Given the description of an element on the screen output the (x, y) to click on. 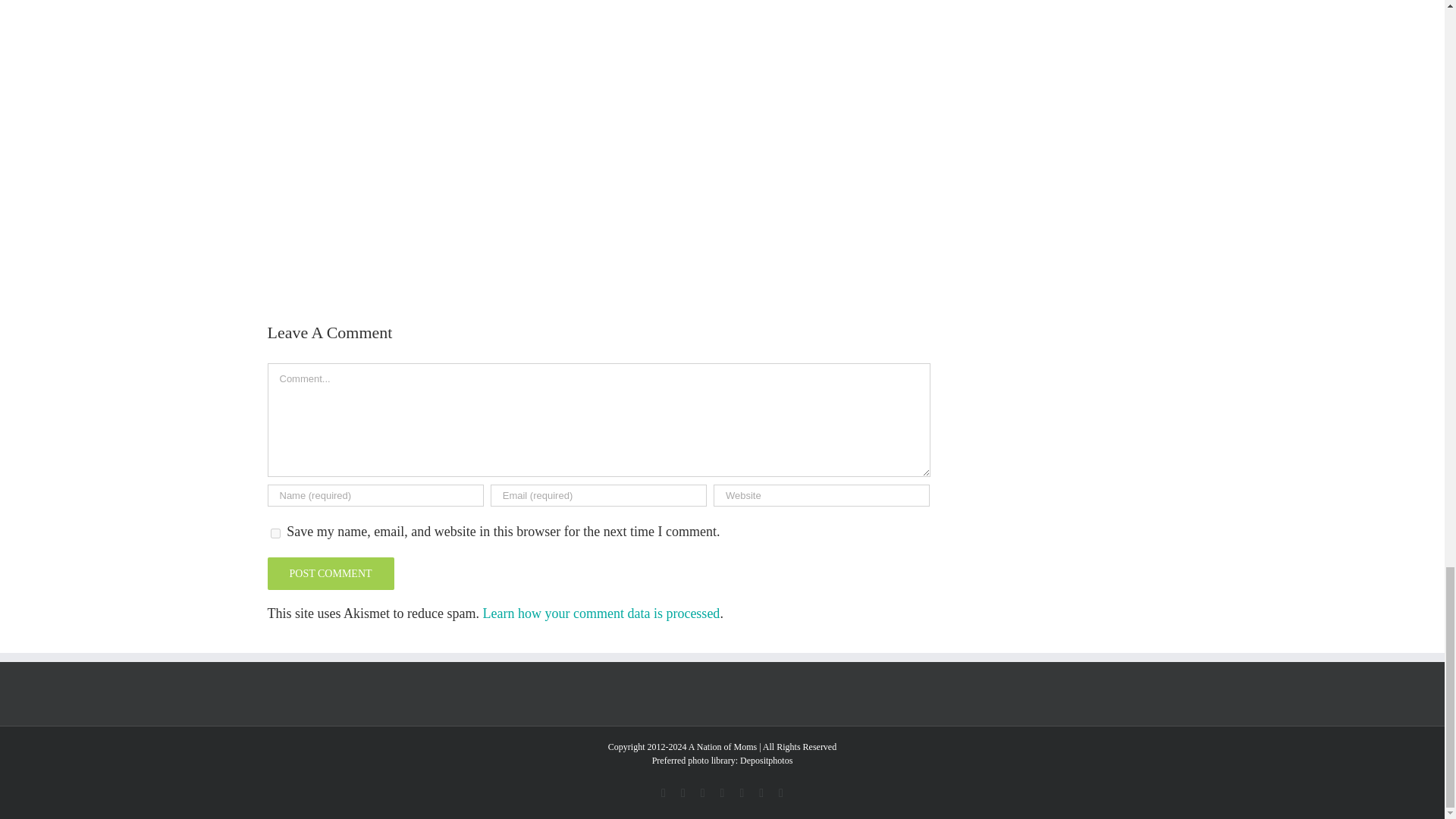
Post Comment (329, 573)
yes (274, 533)
